Given the description of an element on the screen output the (x, y) to click on. 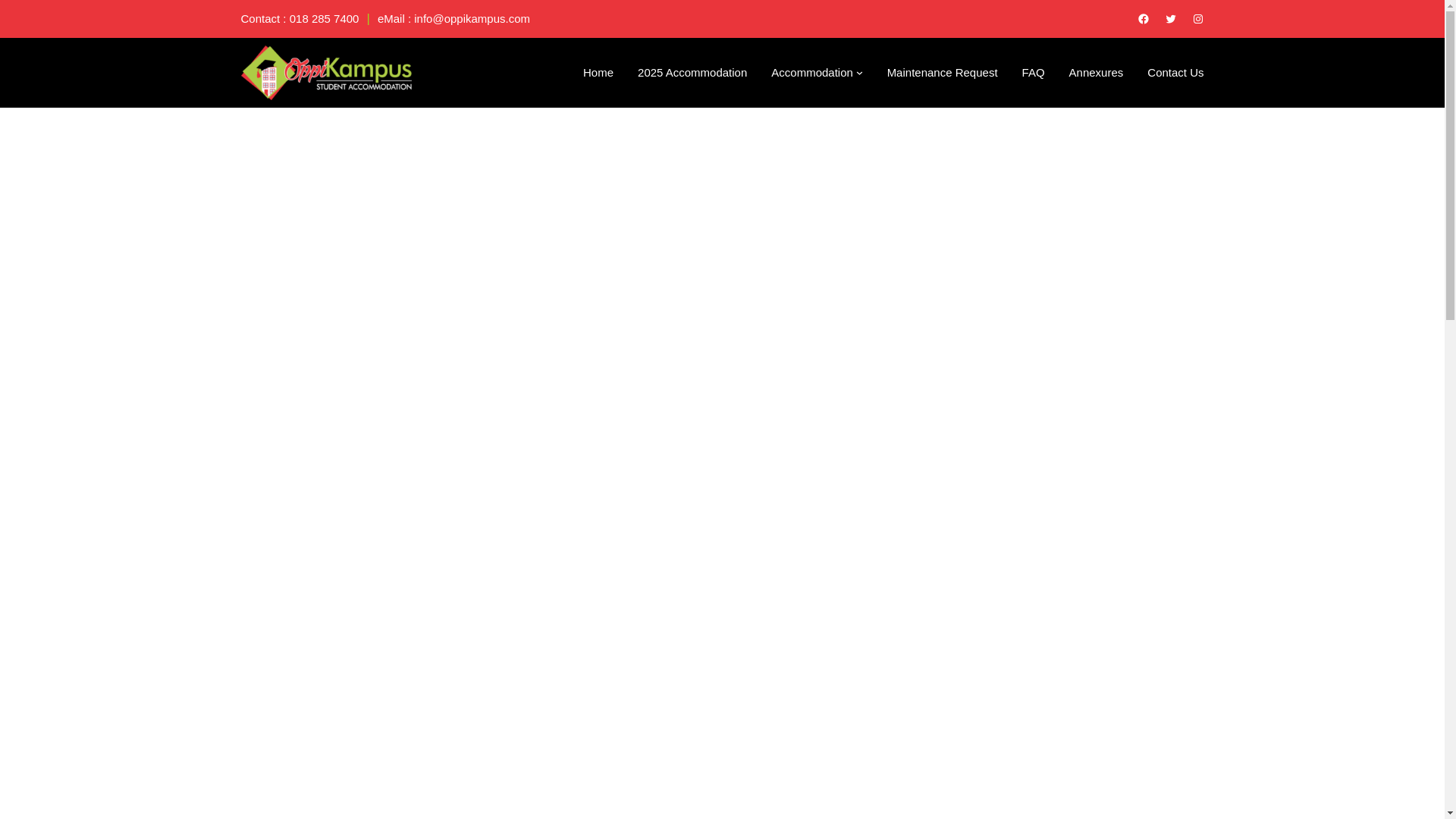
2025 Accommodation (691, 72)
Maintenance Request (941, 72)
Home (597, 72)
Contact Us (1175, 72)
Accommodation (812, 72)
FAQ (1033, 72)
Instagram (1198, 19)
Annexures (1096, 72)
